Given the description of an element on the screen output the (x, y) to click on. 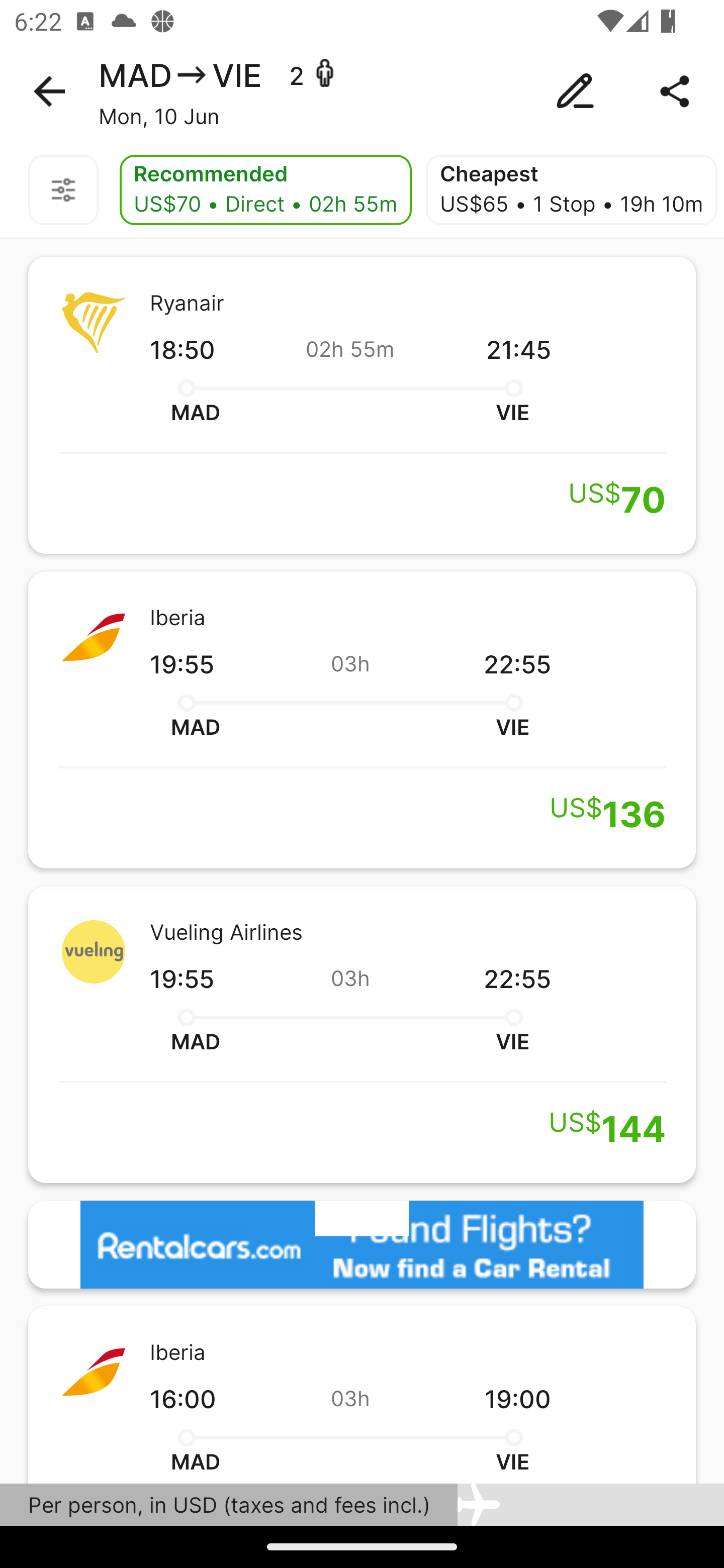
MAD VIE   2 - Mon, 10 Jun (361, 91)
Recommended  US$70 • Direct • 02h 55m (265, 190)
Cheapest US$65 • 1 Stop • 19h 10m (571, 190)
Ryanair 18:50 02h 55m 21:45 MAD VIE (361, 405)
Iberia 19:55 03h 22:55 MAD VIE (361, 719)
Vueling Airlines 19:55 03h 22:55 MAD VIE (361, 1033)
Iberia 16:00 03h 19:00 MAD VIE (361, 1394)
